Given the description of an element on the screen output the (x, y) to click on. 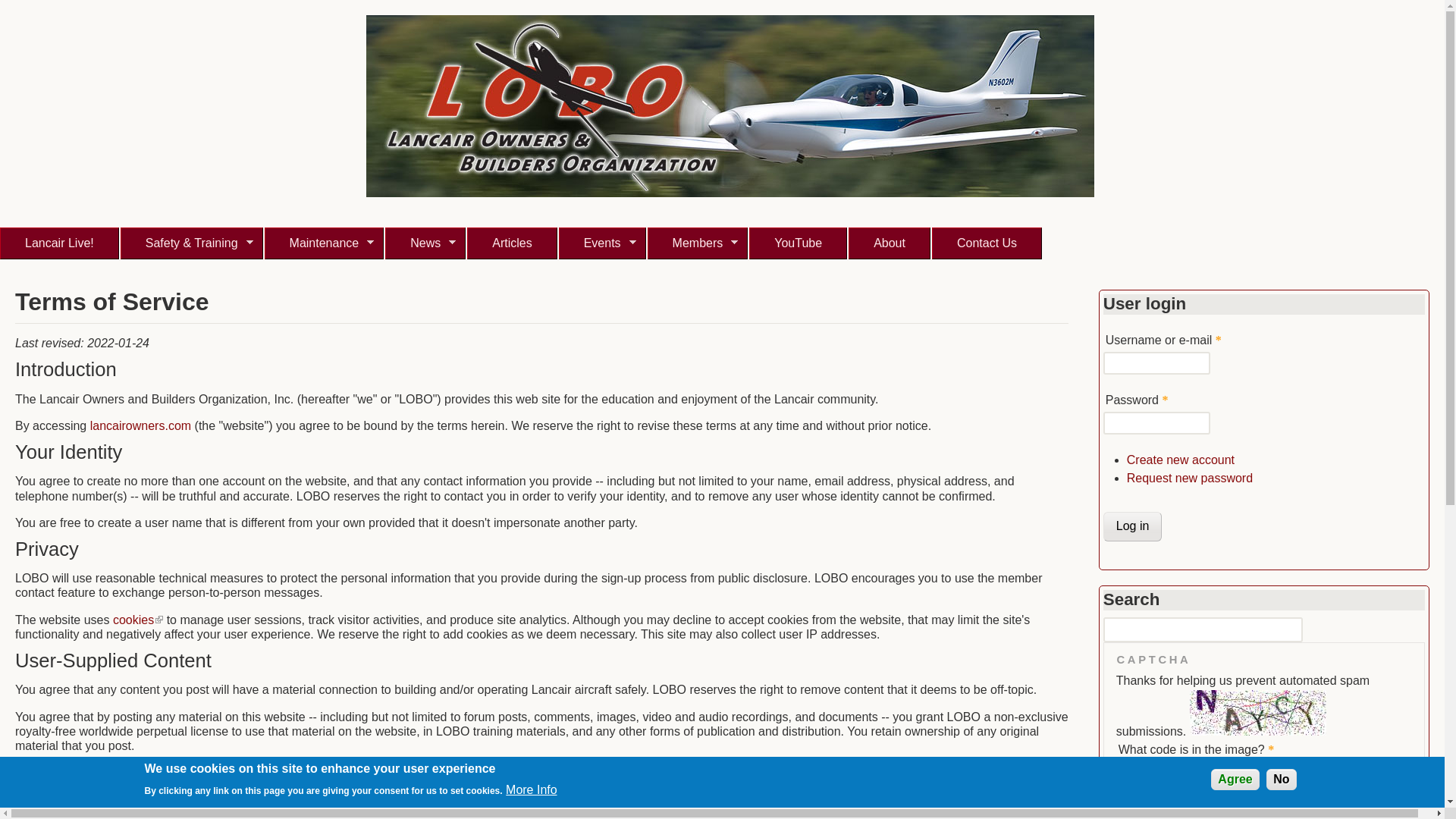
In-depth articles on Lancair-related topics (511, 243)
Latest LOBO News (425, 243)
YouTube (798, 243)
Send a message to LOBO (986, 243)
This field is required. (1164, 399)
This field is required. (1218, 339)
lancairowners.com (140, 425)
Create new account (1180, 459)
Forums for discussing all things Lancair (59, 243)
Visit LOBO's YouTube channel! (798, 243)
Log in (1132, 526)
Articles (511, 243)
Log in (1132, 526)
Lancair Live! (59, 243)
